Given the description of an element on the screen output the (x, y) to click on. 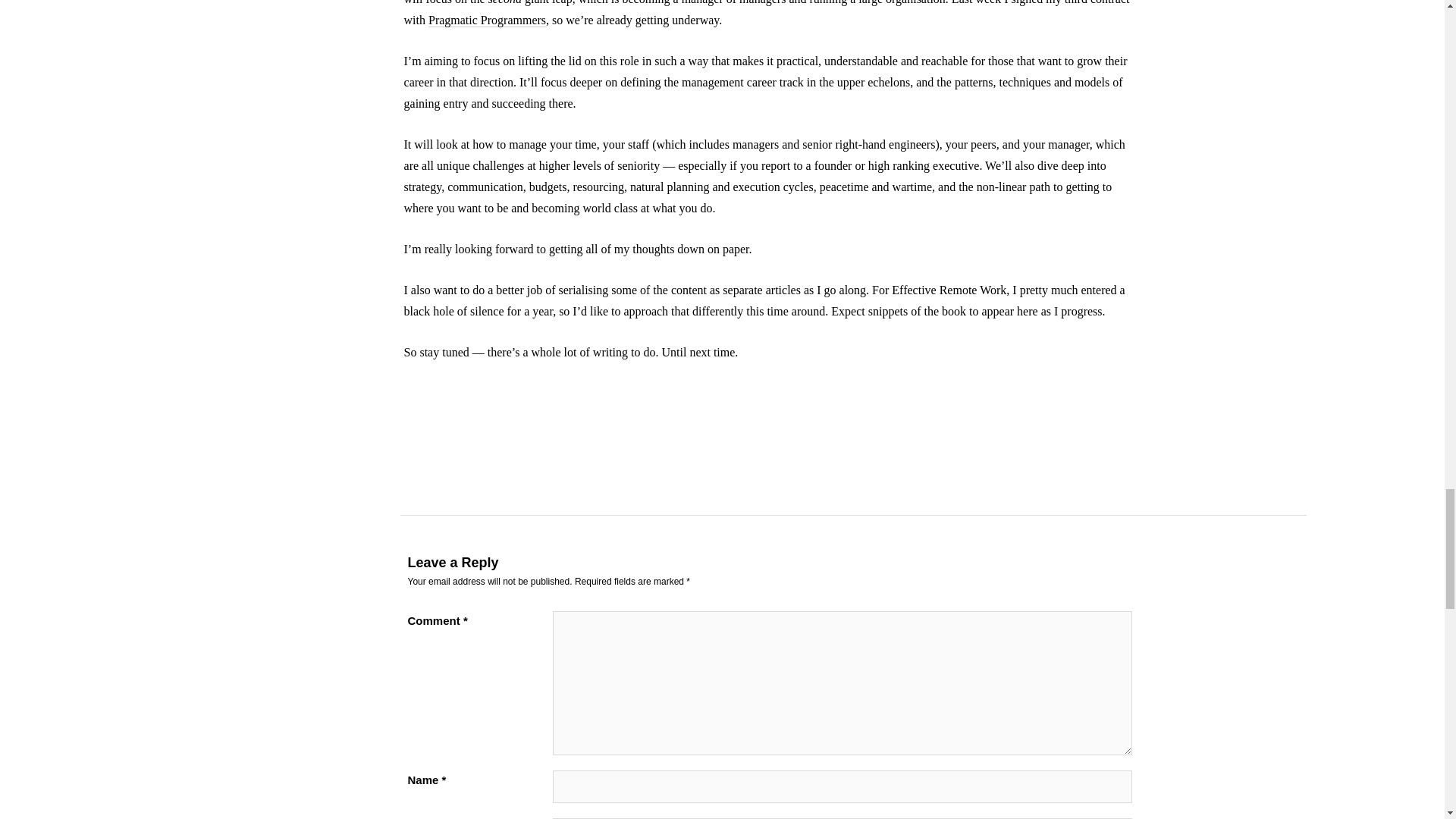
Pragmatic Programmers (487, 20)
